Given the description of an element on the screen output the (x, y) to click on. 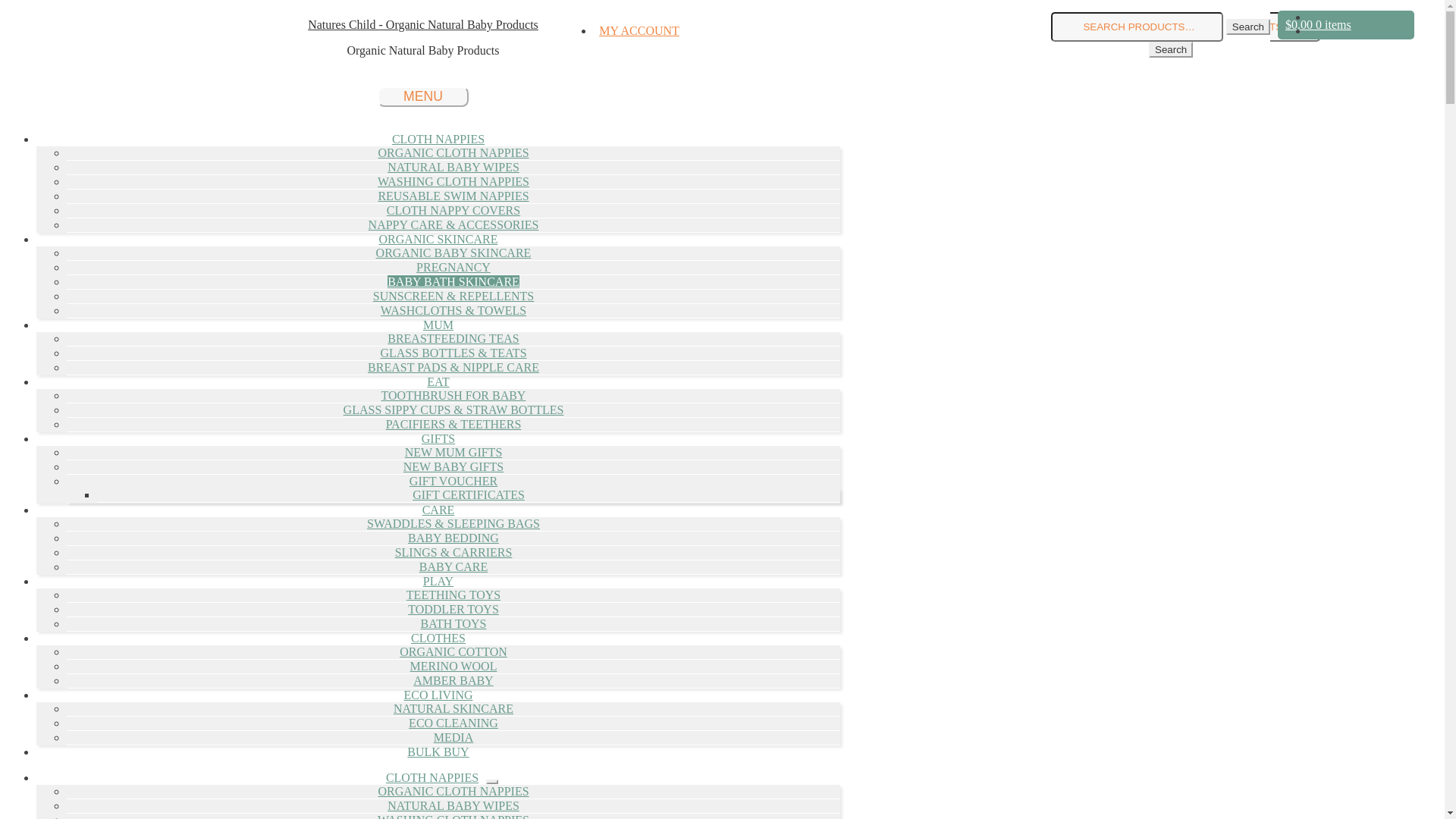
GIFT CERTIFICATES Element type: text (468, 494)
Search Element type: text (1248, 26)
SUNSCREEN & REPELLENTS Element type: text (453, 295)
PLAY Element type: text (438, 580)
BABY BEDDING Element type: text (452, 537)
SWADDLES & SLEEPING BAGS Element type: text (453, 523)
AMBER BABY Element type: text (452, 680)
GLASS SIPPY CUPS & STRAW BOTTLES Element type: text (453, 409)
PACIFIERS & TEETHERS Element type: text (453, 423)
ORGANIC BABY SKINCARE Element type: text (453, 252)
MENU Element type: text (422, 96)
EAT Element type: text (438, 381)
BREAST PADS & NIPPLE CARE Element type: text (453, 366)
ECO LIVING Element type: text (438, 694)
Expand child menu Element type: text (492, 781)
ORGANIC CLOTH NAPPIES Element type: text (452, 790)
NEW BABY GIFTS Element type: text (453, 466)
CLOTH NAPPY COVERS Element type: text (453, 209)
TODDLER TOYS Element type: text (452, 608)
TEETHING TOYS Element type: text (453, 594)
BREASTFEEDING TEAS Element type: text (453, 338)
MY ACCOUNT Element type: text (638, 30)
ORGANIC SKINCARE Element type: text (438, 238)
WASHING CLOTH NAPPIES Element type: text (453, 181)
NAPPY CARE & ACCESSORIES Element type: text (453, 224)
PREGNANCY Element type: text (453, 266)
Search Element type: text (1170, 49)
ECO CLEANING Element type: text (453, 722)
MUM Element type: text (437, 324)
SLINGS & CARRIERS Element type: text (453, 552)
GLASS BOTTLES & TEATS Element type: text (452, 352)
BABY BATH SKINCARE Element type: text (453, 281)
Skip to navigation Element type: text (5, 17)
CARE Element type: text (437, 509)
MEDIA Element type: text (453, 737)
ORGANIC CLOTH NAPPIES Element type: text (452, 152)
CLOTH NAPPIES Element type: text (437, 138)
REUSABLE SWIM NAPPIES Element type: text (452, 195)
NATURAL BABY WIPES Element type: text (453, 166)
WASHCLOTHS & TOWELS Element type: text (453, 310)
MERINO WOOL Element type: text (453, 665)
$0.00 0 items Element type: text (1345, 24)
CLOTH NAPPIES Element type: text (431, 777)
NATURAL SKINCARE Element type: text (453, 708)
NATURAL BABY WIPES Element type: text (453, 805)
BULK BUY Element type: text (438, 751)
GIFT VOUCHER Element type: text (453, 480)
GIFTS Element type: text (438, 438)
ORGANIC COTTON Element type: text (452, 651)
CLOTHES Element type: text (437, 637)
NEW MUM GIFTS Element type: text (453, 451)
BATH TOYS Element type: text (453, 623)
BABY CARE Element type: text (453, 566)
TOOTHBRUSH FOR BABY Element type: text (453, 395)
Natures Child - Organic Natural Baby Products Element type: text (422, 24)
